Given the description of an element on the screen output the (x, y) to click on. 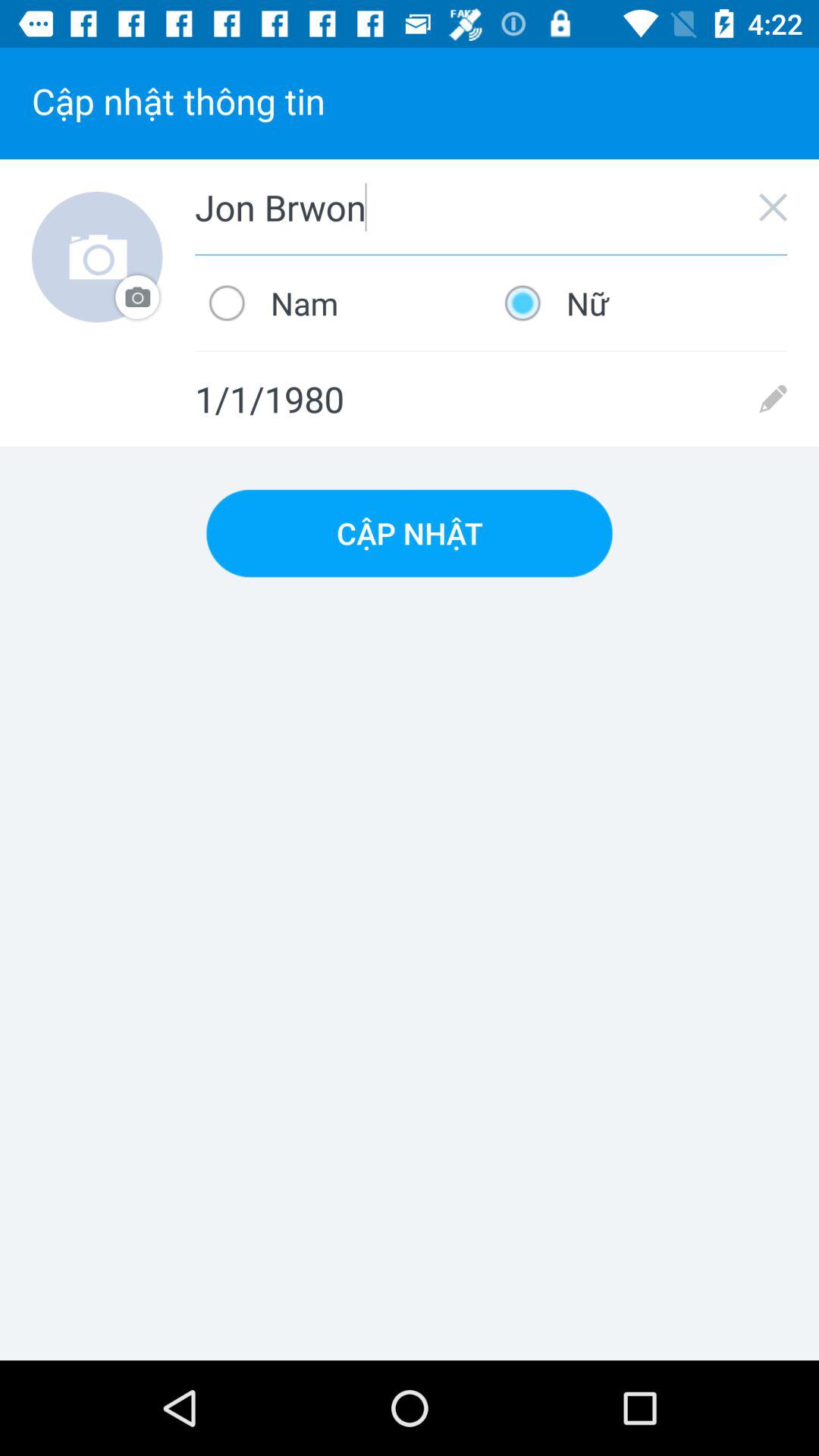
launch the icon to the right of nam icon (638, 302)
